Given the description of an element on the screen output the (x, y) to click on. 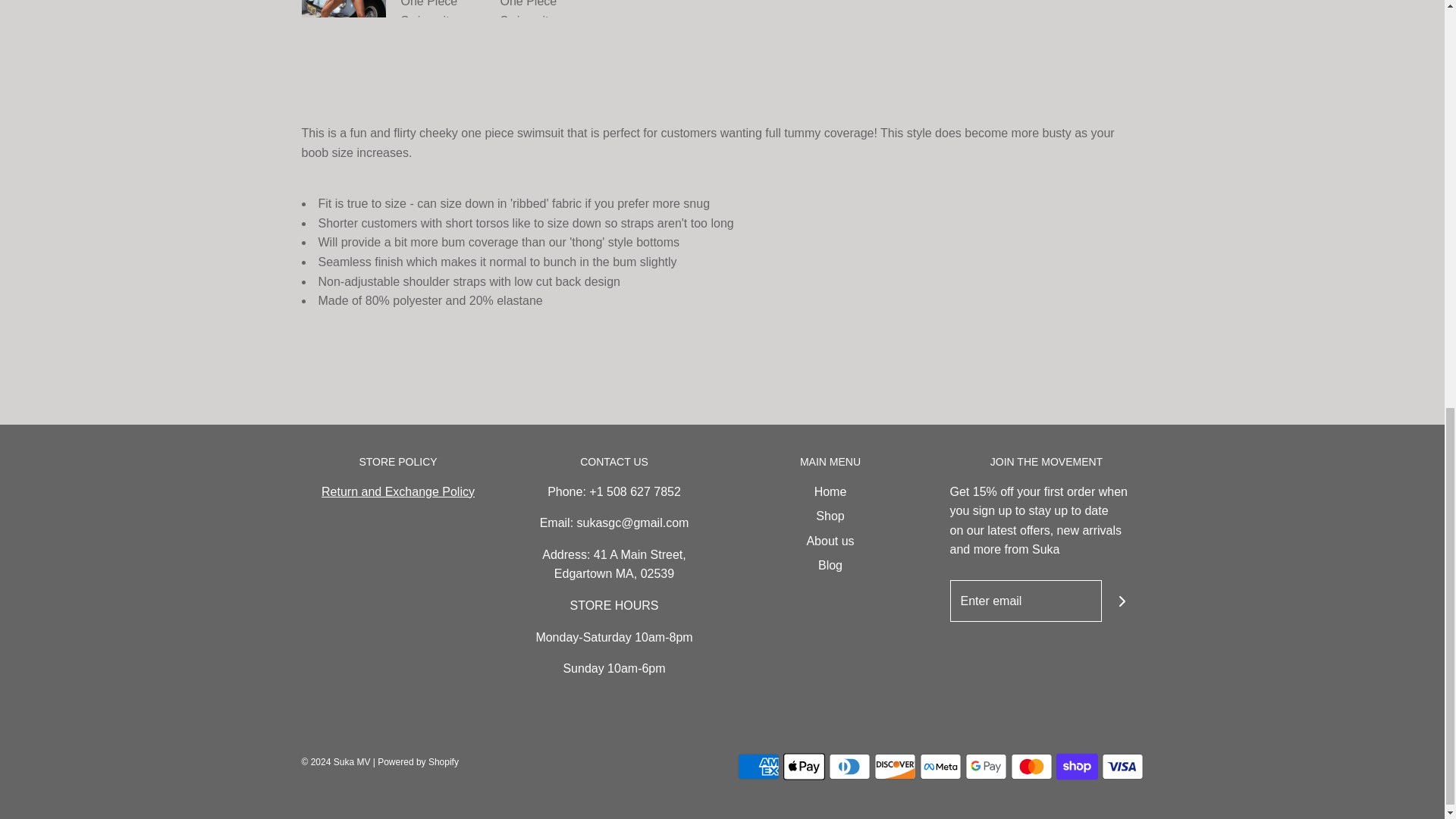
Visa (1121, 766)
Store Policy (397, 491)
American Express (757, 766)
Meta Pay (939, 766)
Discover (894, 766)
Diners Club (848, 766)
Apple Pay (803, 766)
Google Pay (984, 766)
Shop Pay (1076, 766)
Mastercard (1030, 766)
